Given the description of an element on the screen output the (x, y) to click on. 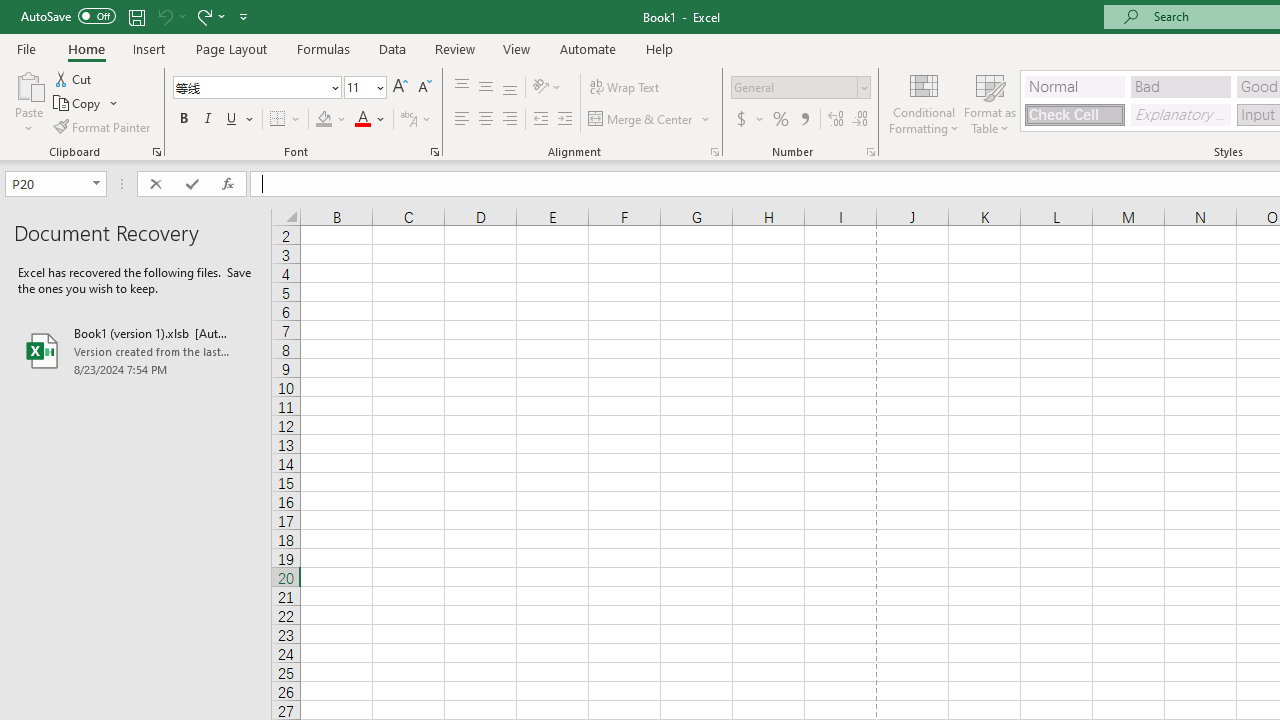
Italic (207, 119)
Percent Style (781, 119)
Number Format (800, 87)
Format as Table (990, 102)
Middle Align (485, 87)
Cut (73, 78)
Fill Color (331, 119)
Copy (78, 103)
